Given the description of an element on the screen output the (x, y) to click on. 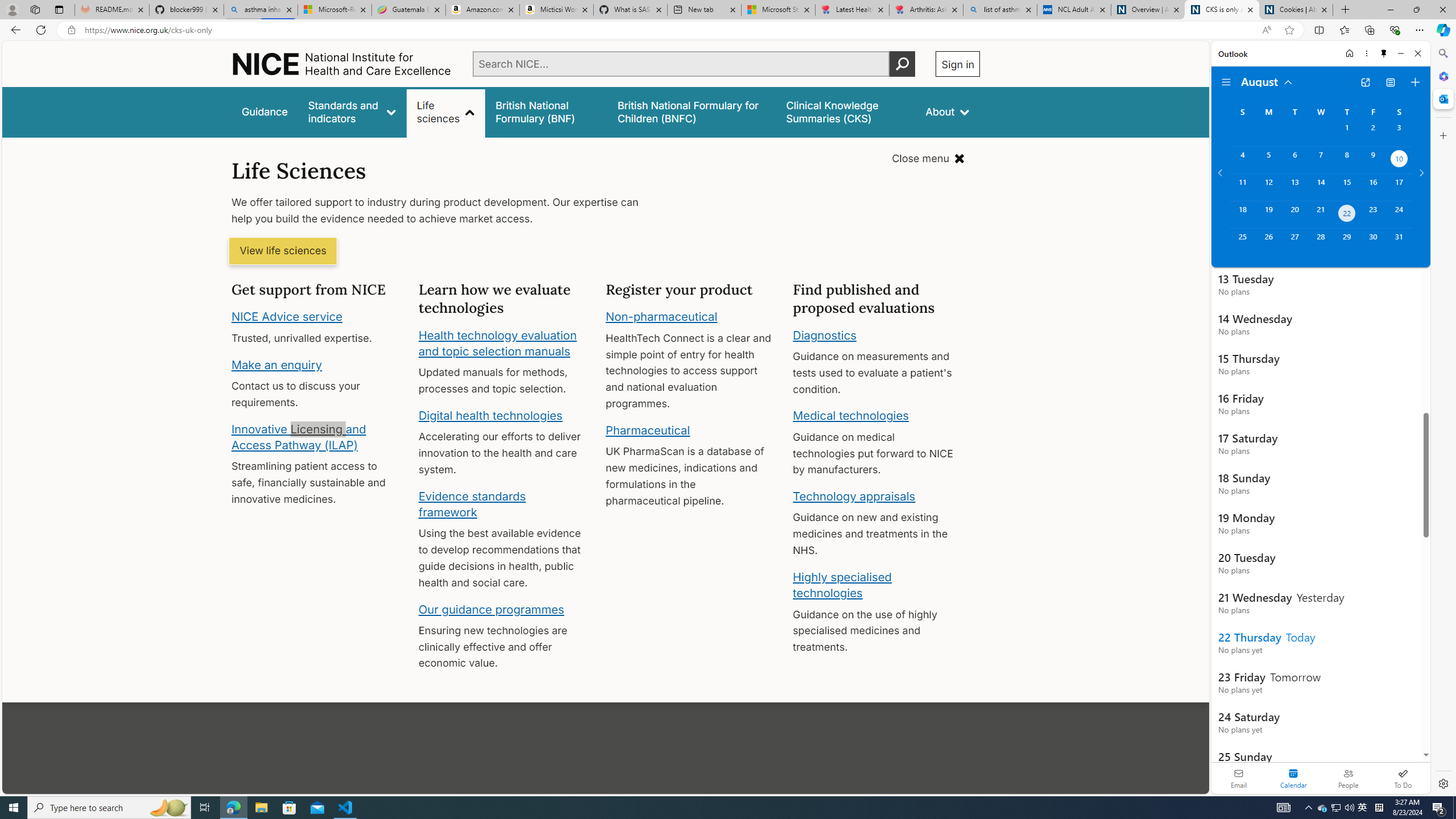
Tuesday, August 27, 2024.  (1294, 241)
Folder navigation (1225, 82)
Open in new tab (1365, 82)
Tuesday, August 6, 2024.  (1294, 159)
NICE Advice service (287, 316)
Sunday, August 4, 2024.  (1242, 159)
Saturday, August 17, 2024.  (1399, 186)
Tuesday, August 13, 2024.  (1294, 186)
Perform search (902, 63)
Friday, August 16, 2024.  (1372, 186)
